Given the description of an element on the screen output the (x, y) to click on. 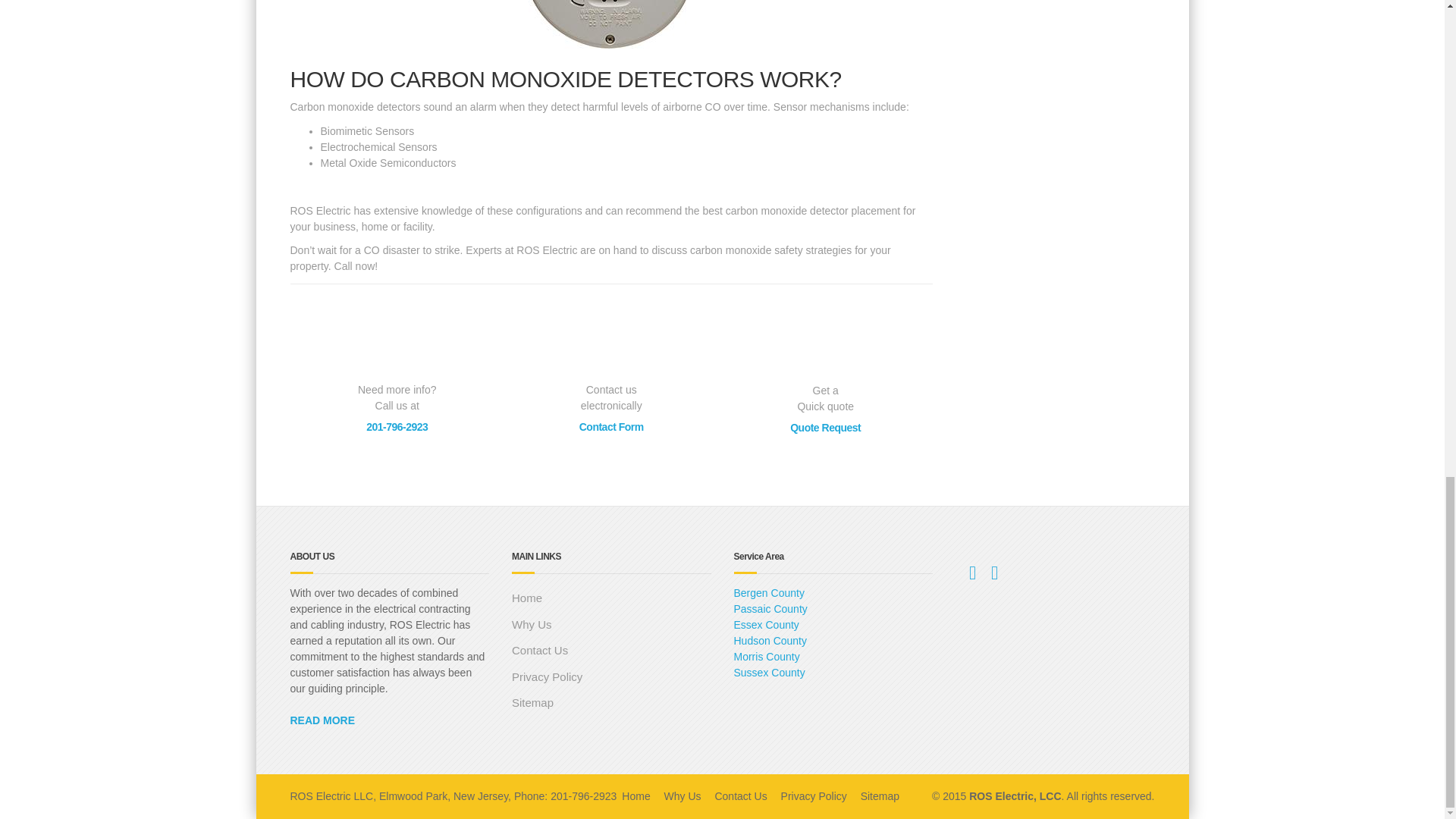
READ MORE (322, 720)
Bergen County (769, 592)
201-796-2923 (397, 426)
Passaic County (770, 608)
Contact Us (611, 651)
Contact Form (611, 426)
Home (611, 598)
Sitemap (611, 703)
Privacy Policy (611, 677)
Why Us (611, 624)
Quote Request (825, 427)
